Given the description of an element on the screen output the (x, y) to click on. 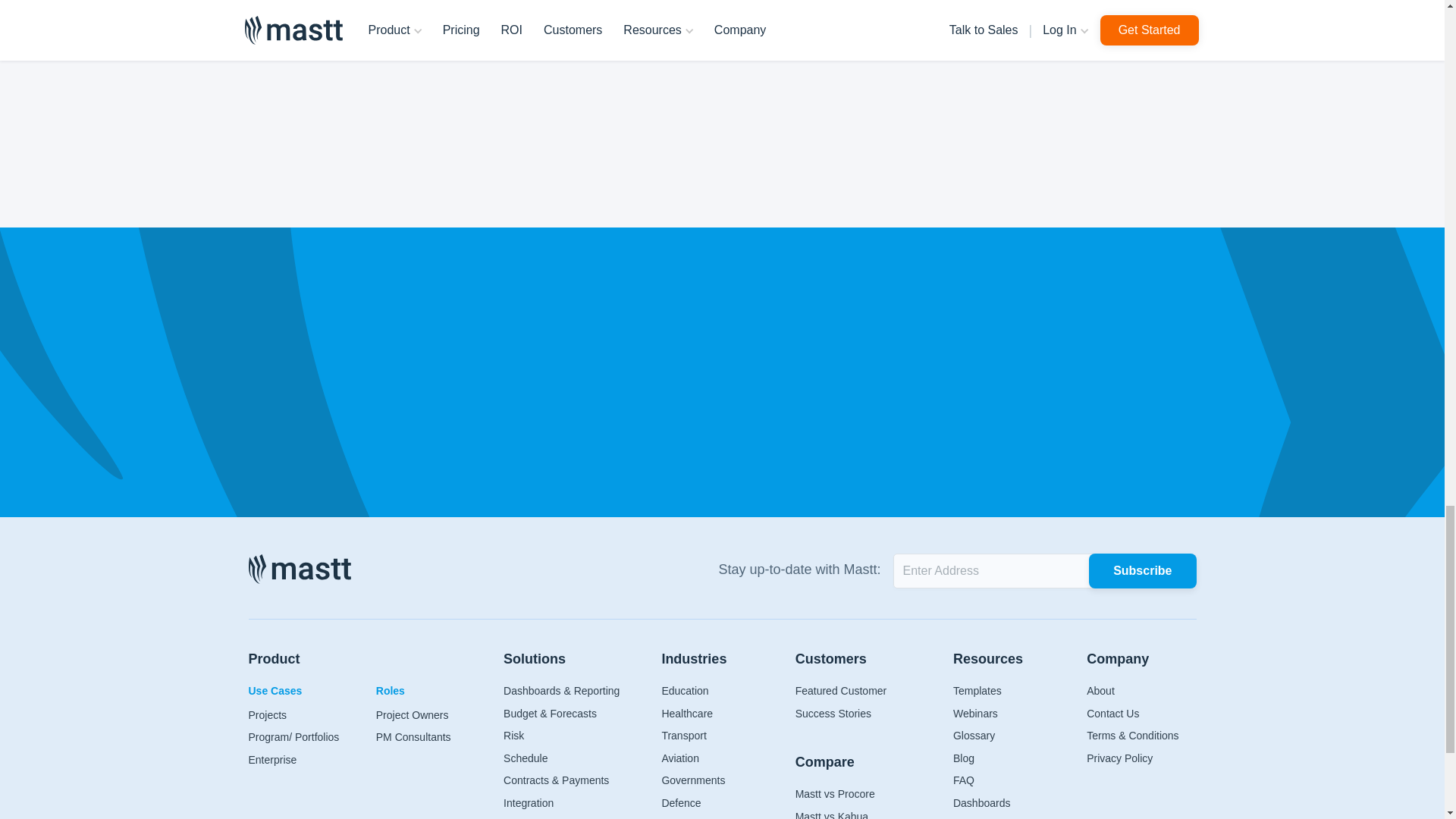
Subscribe (1142, 570)
